Given the description of an element on the screen output the (x, y) to click on. 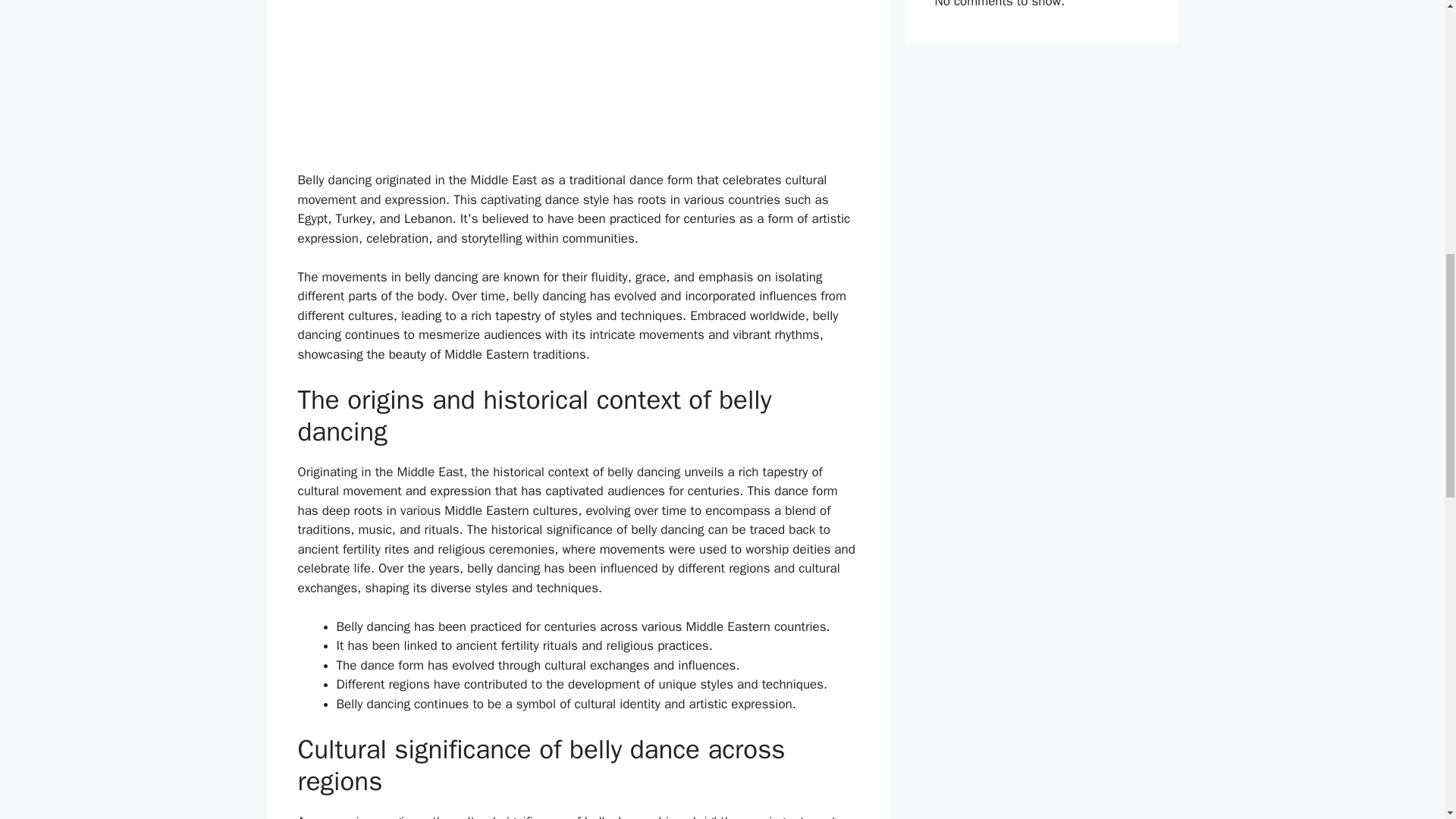
YouTube video player (578, 77)
